Given the description of an element on the screen output the (x, y) to click on. 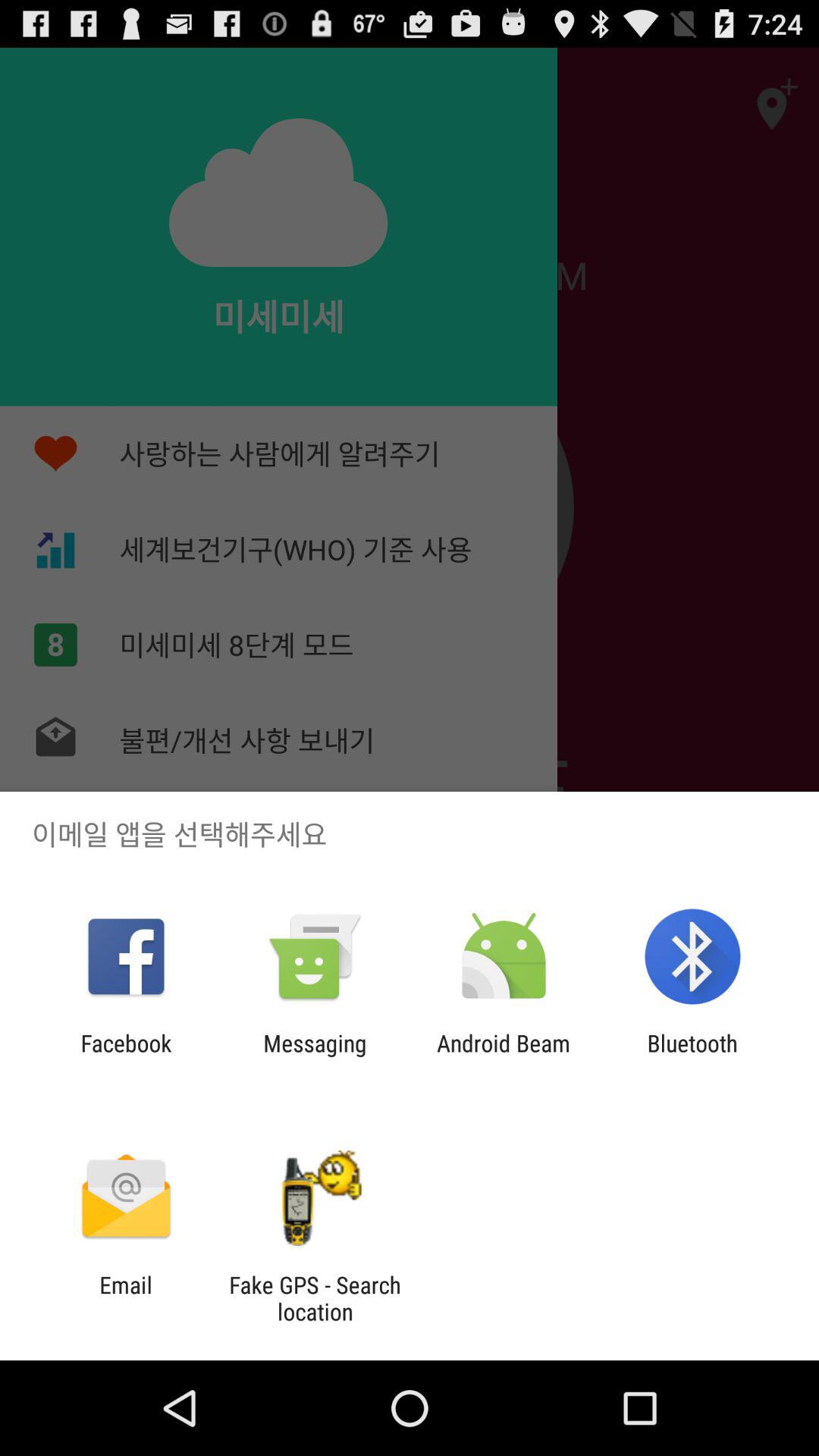
turn off email item (125, 1298)
